Given the description of an element on the screen output the (x, y) to click on. 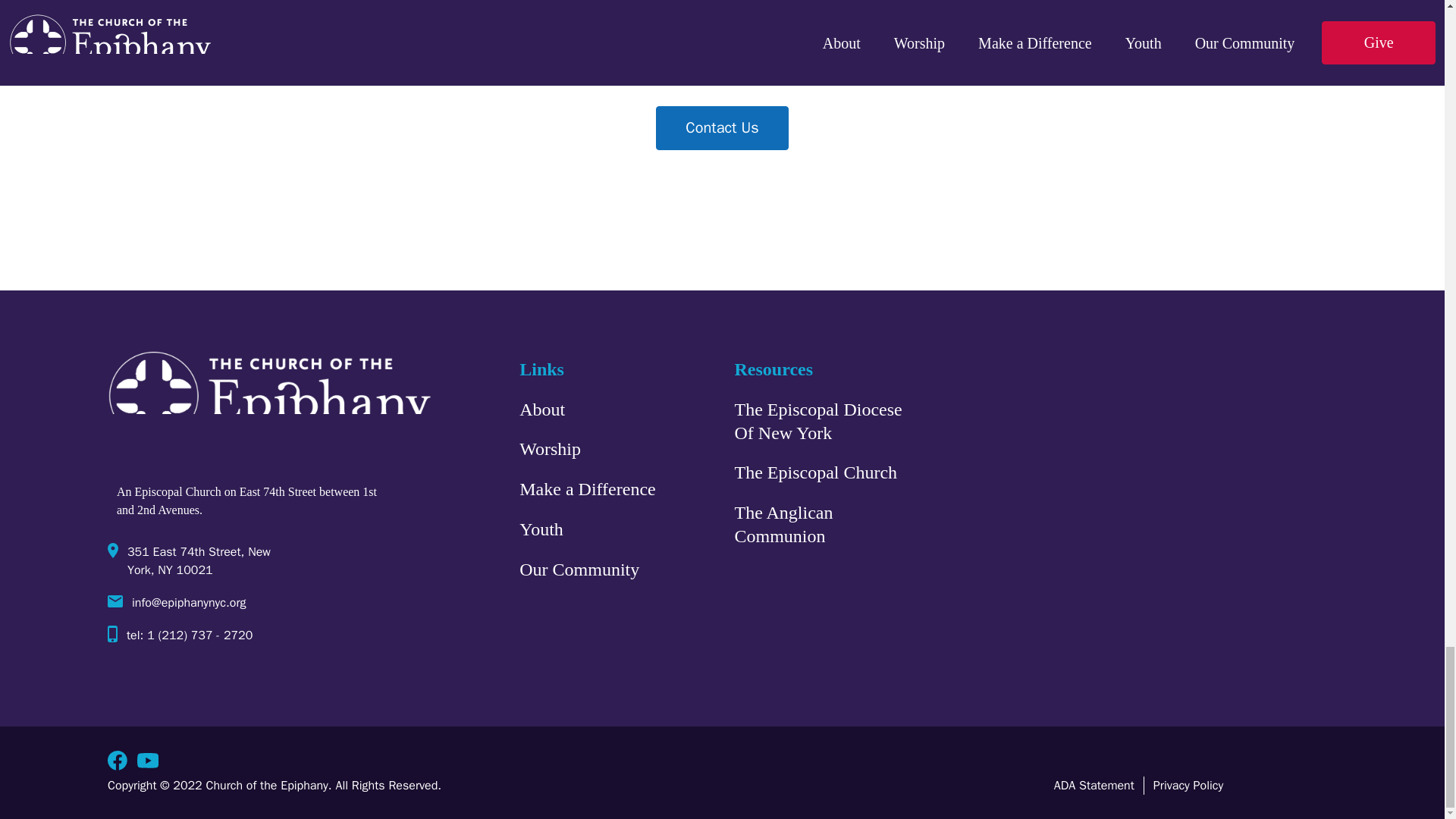
The Episcopal Church (814, 472)
Worship (549, 449)
ADA Statement (1094, 785)
Our Community (579, 569)
Links (541, 368)
Resources (772, 368)
351 East 74th Street, New York, NY 10021 (254, 565)
The Episcopal Diocese Of New York (817, 420)
About (541, 409)
Youth (541, 529)
Privacy Policy (1188, 785)
Make a Difference (587, 489)
Contact Us (722, 127)
The Anglican Communion (817, 524)
